Given the description of an element on the screen output the (x, y) to click on. 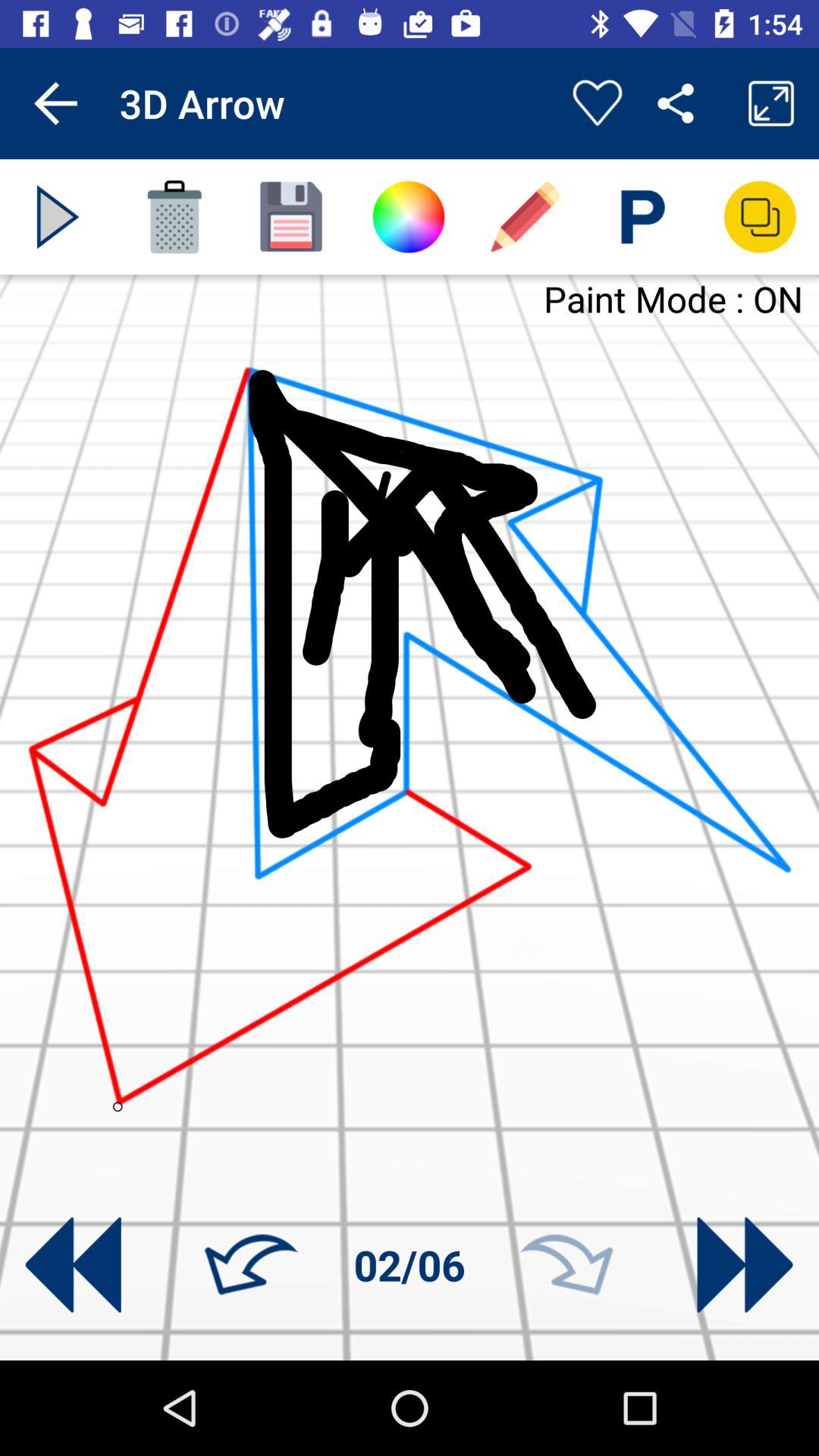
play item (58, 216)
